Given the description of an element on the screen output the (x, y) to click on. 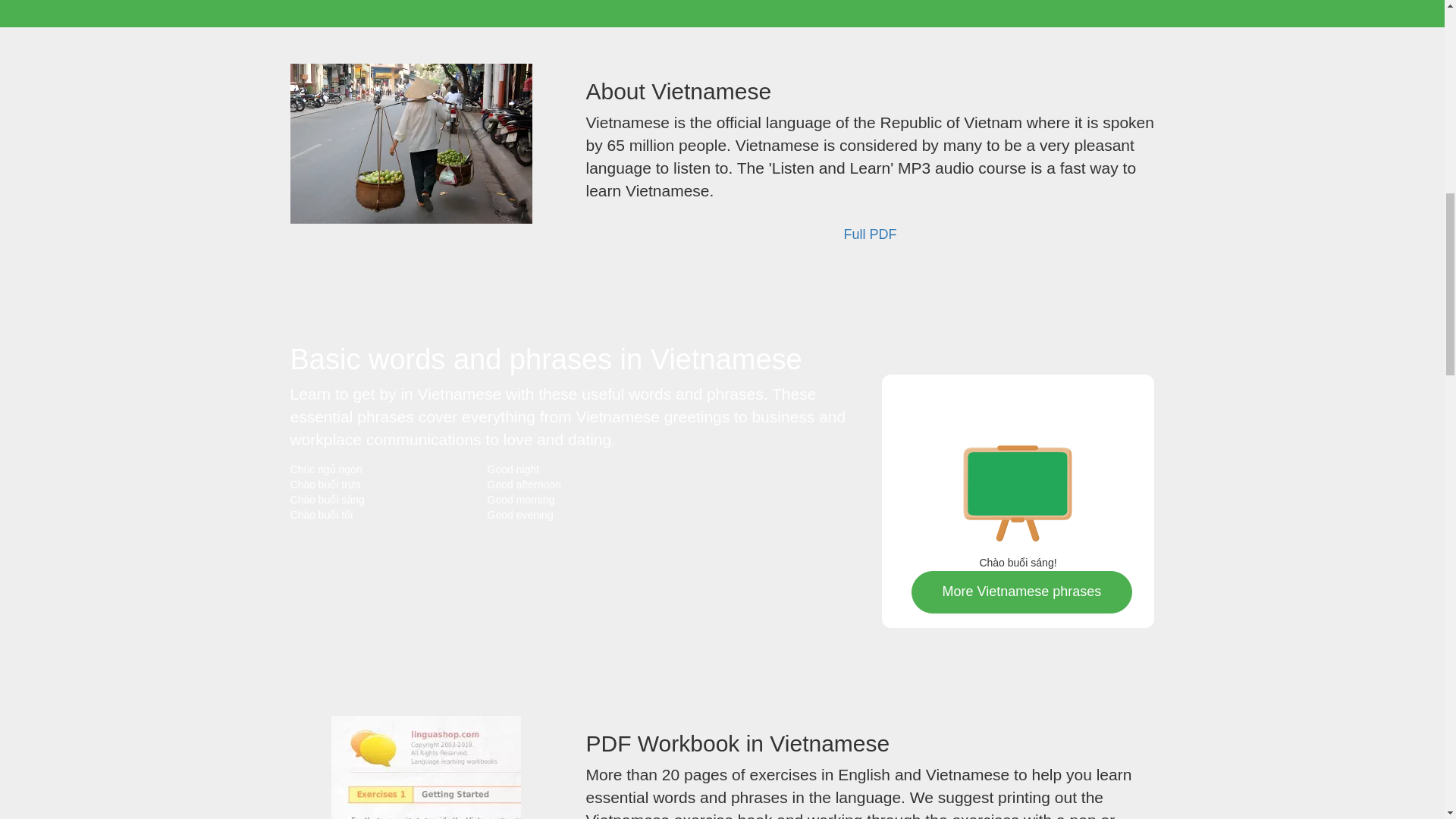
Basic words and phrases in Vietnamese (1016, 483)
More Vietnamese phrases (1021, 591)
Full PDF (869, 234)
About Vietnamese (410, 143)
More Vietnamese phrases (1021, 591)
PDF Workbook in Vietnamese (426, 767)
Full PDF (869, 234)
